Given the description of an element on the screen output the (x, y) to click on. 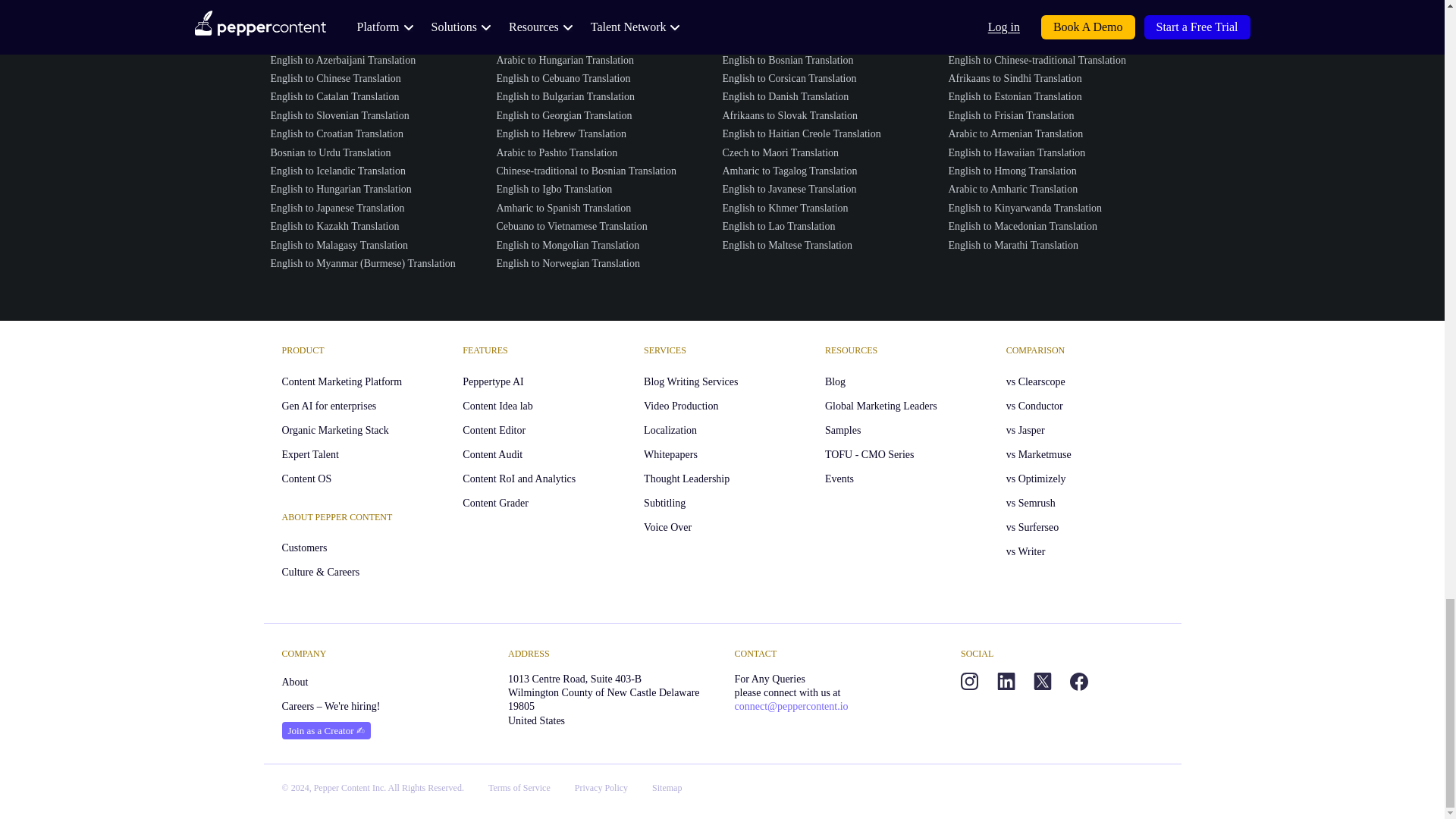
linkedin (1005, 681)
twitter (1042, 681)
instagram (969, 681)
facebook (1078, 681)
